Given the description of an element on the screen output the (x, y) to click on. 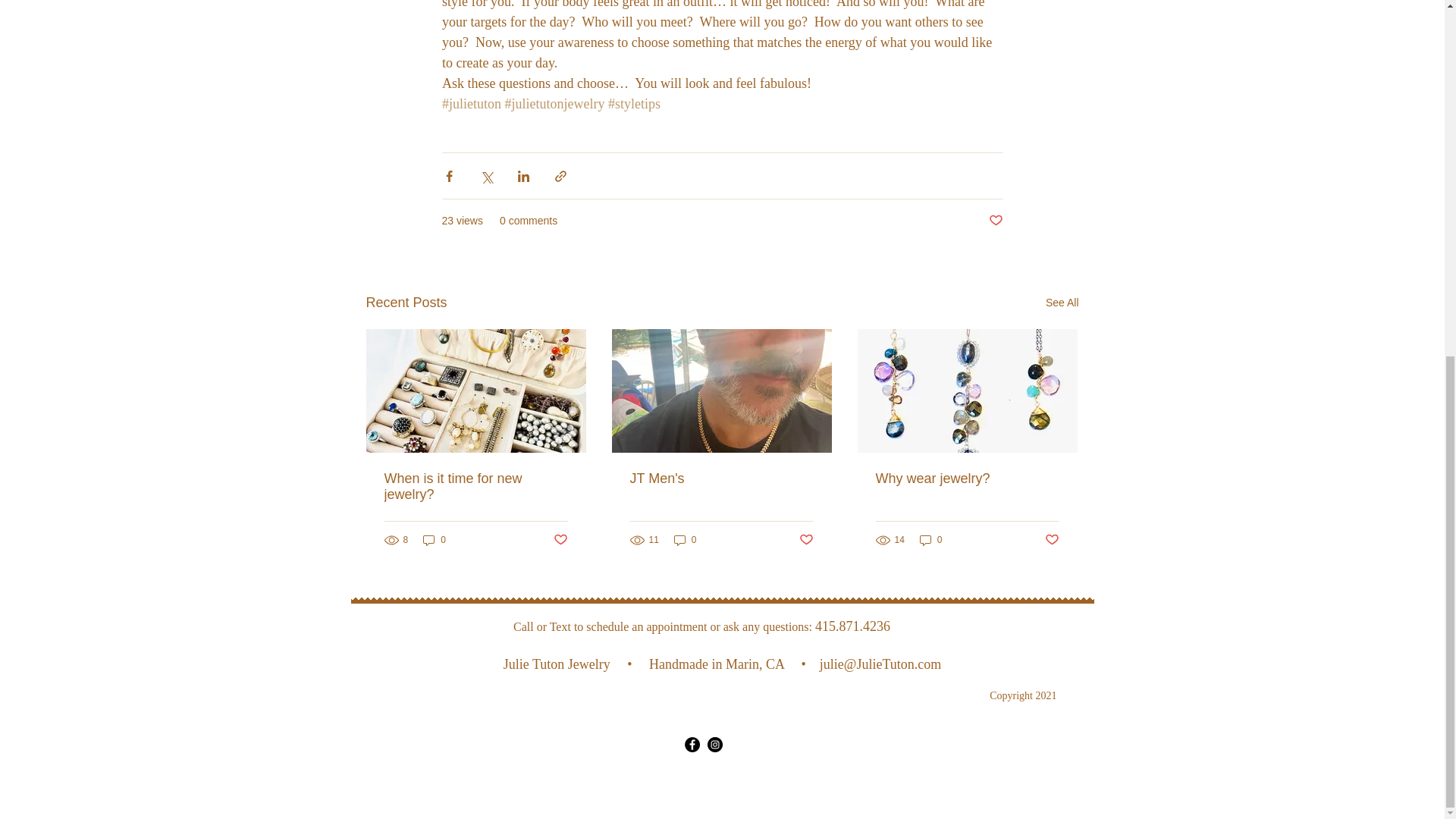
Post not marked as liked (995, 220)
See All (1061, 302)
